Given the description of an element on the screen output the (x, y) to click on. 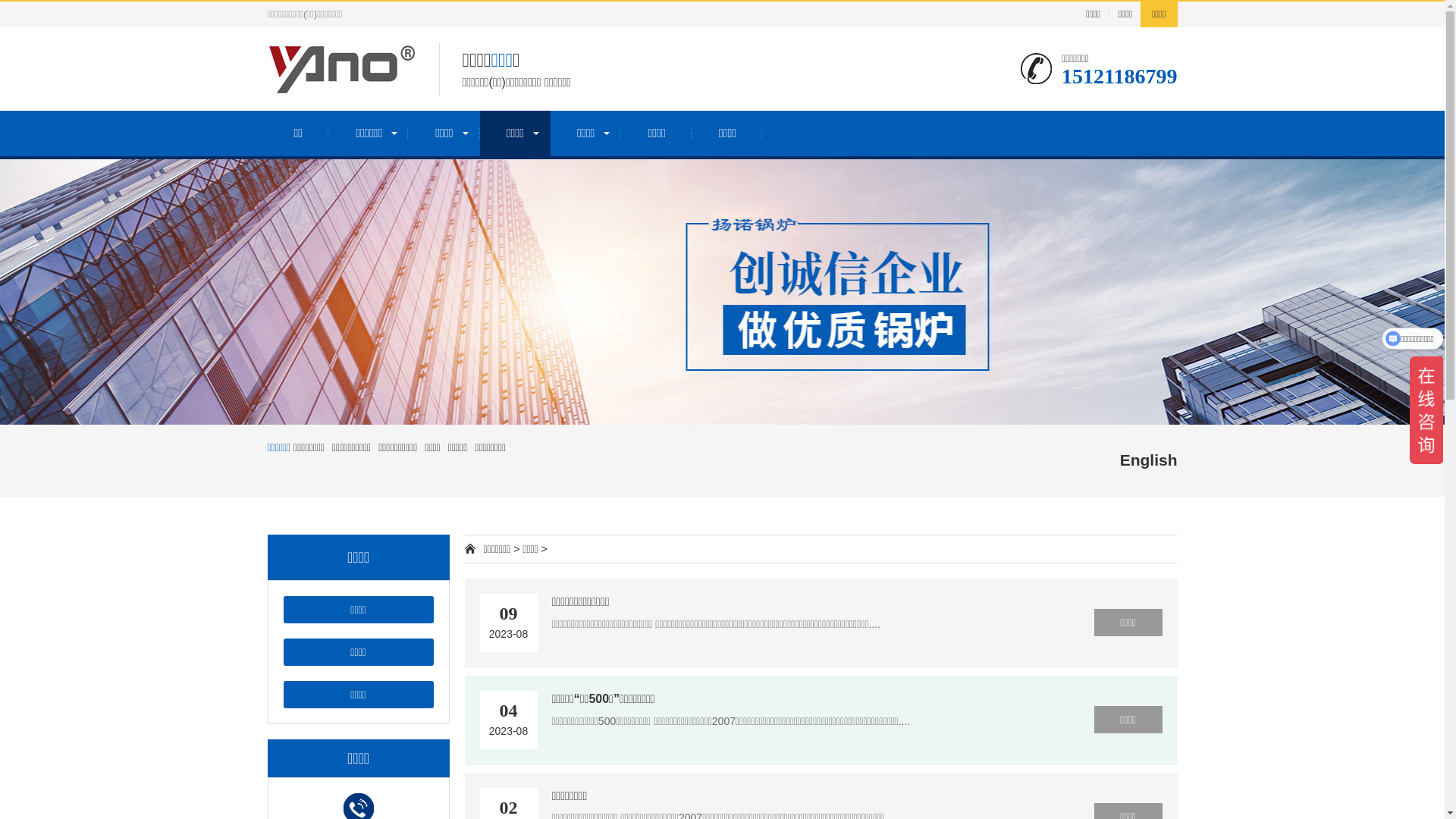
English Element type: text (1148, 459)
